Given the description of an element on the screen output the (x, y) to click on. 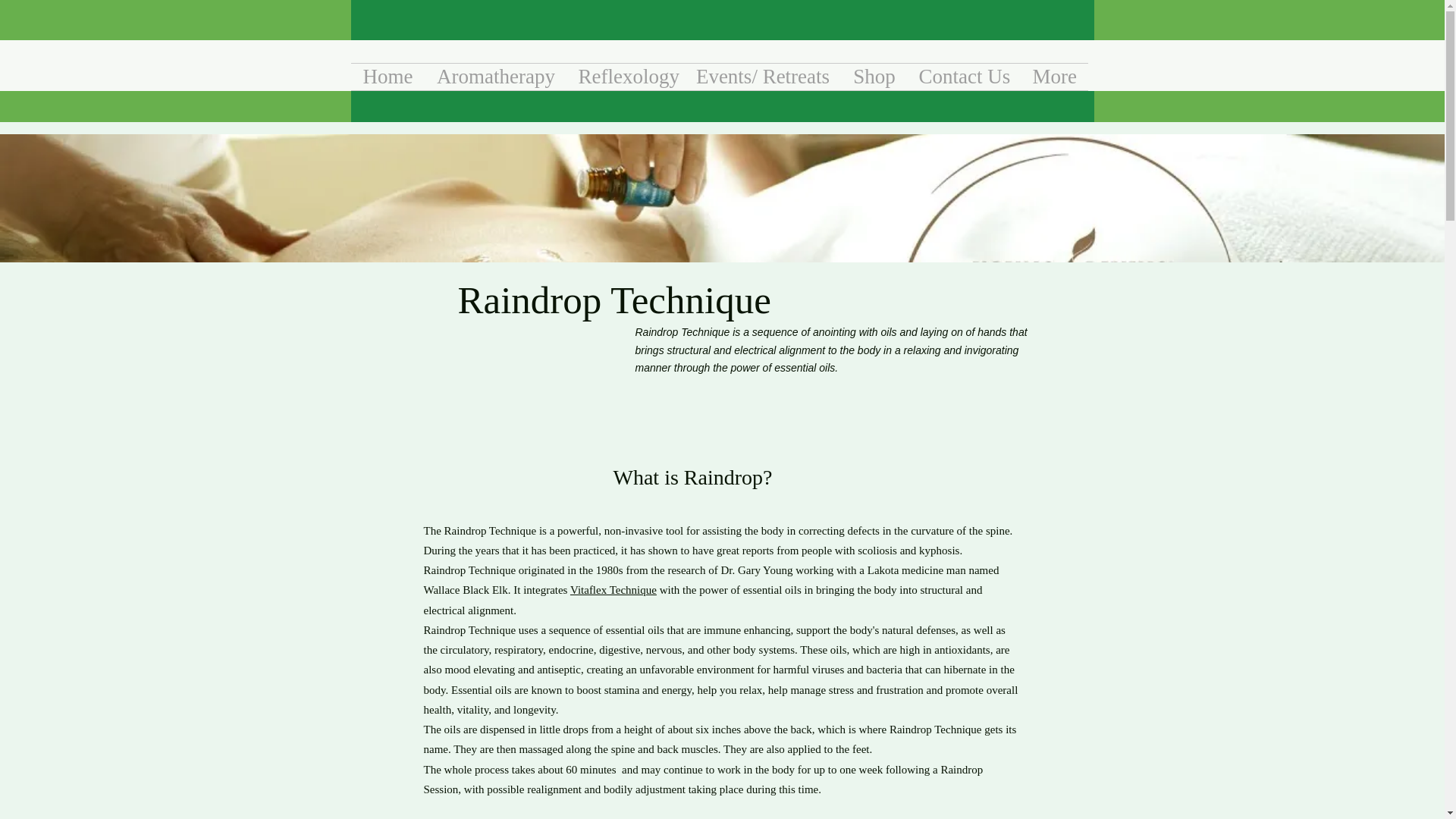
Home (387, 76)
Vitaflex Technique (613, 589)
Aromatherapy (495, 76)
Reflexology (625, 76)
Contact Us (963, 76)
Shop (874, 76)
